Given the description of an element on the screen output the (x, y) to click on. 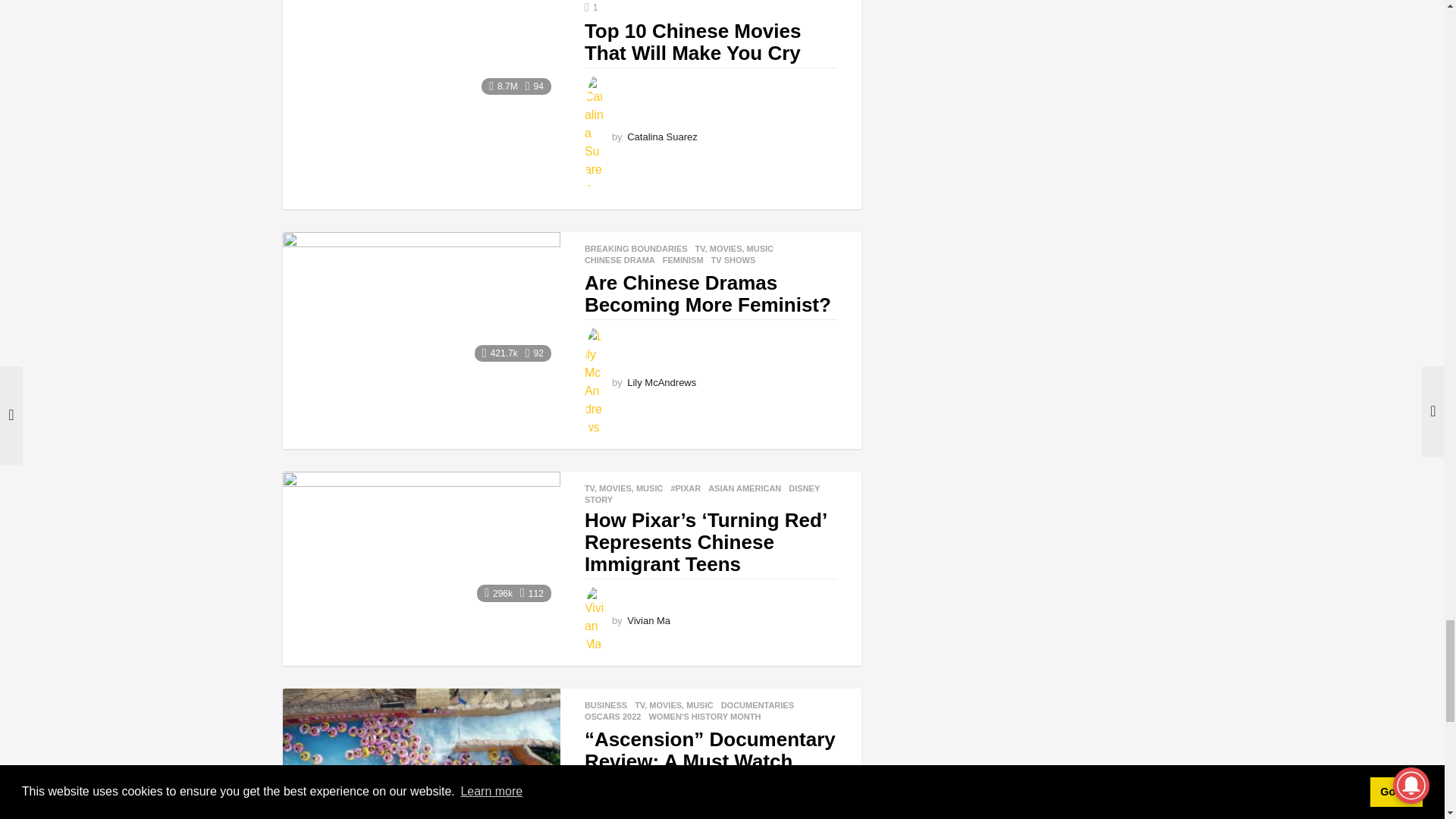
Top 10 Chinese Movies That Will Make You Cry (420, 52)
Are Chinese Dramas Becoming More Feminist? (420, 301)
